Given the description of an element on the screen output the (x, y) to click on. 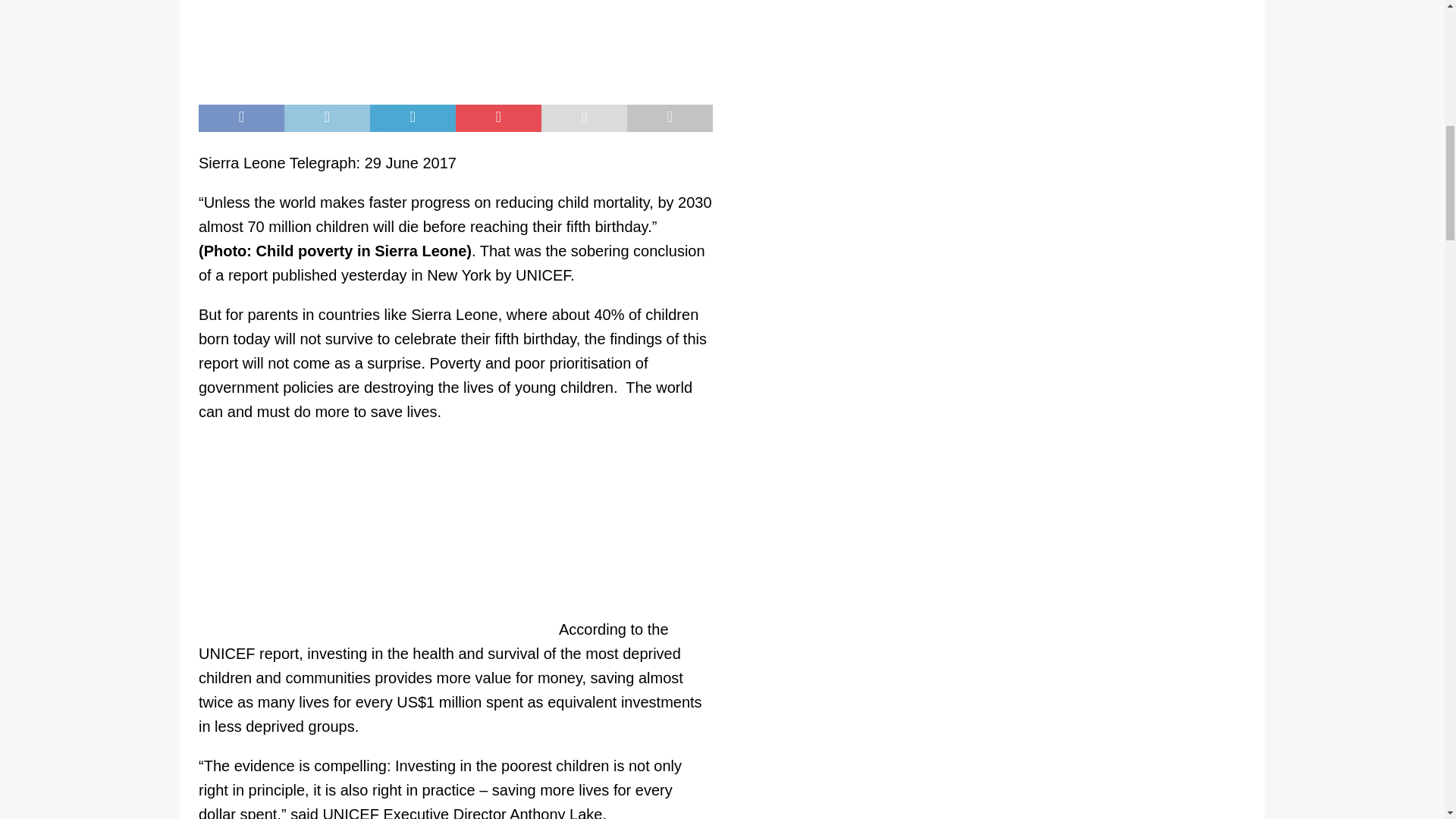
To match feature WATER-LEONE (455, 44)
